Given the description of an element on the screen output the (x, y) to click on. 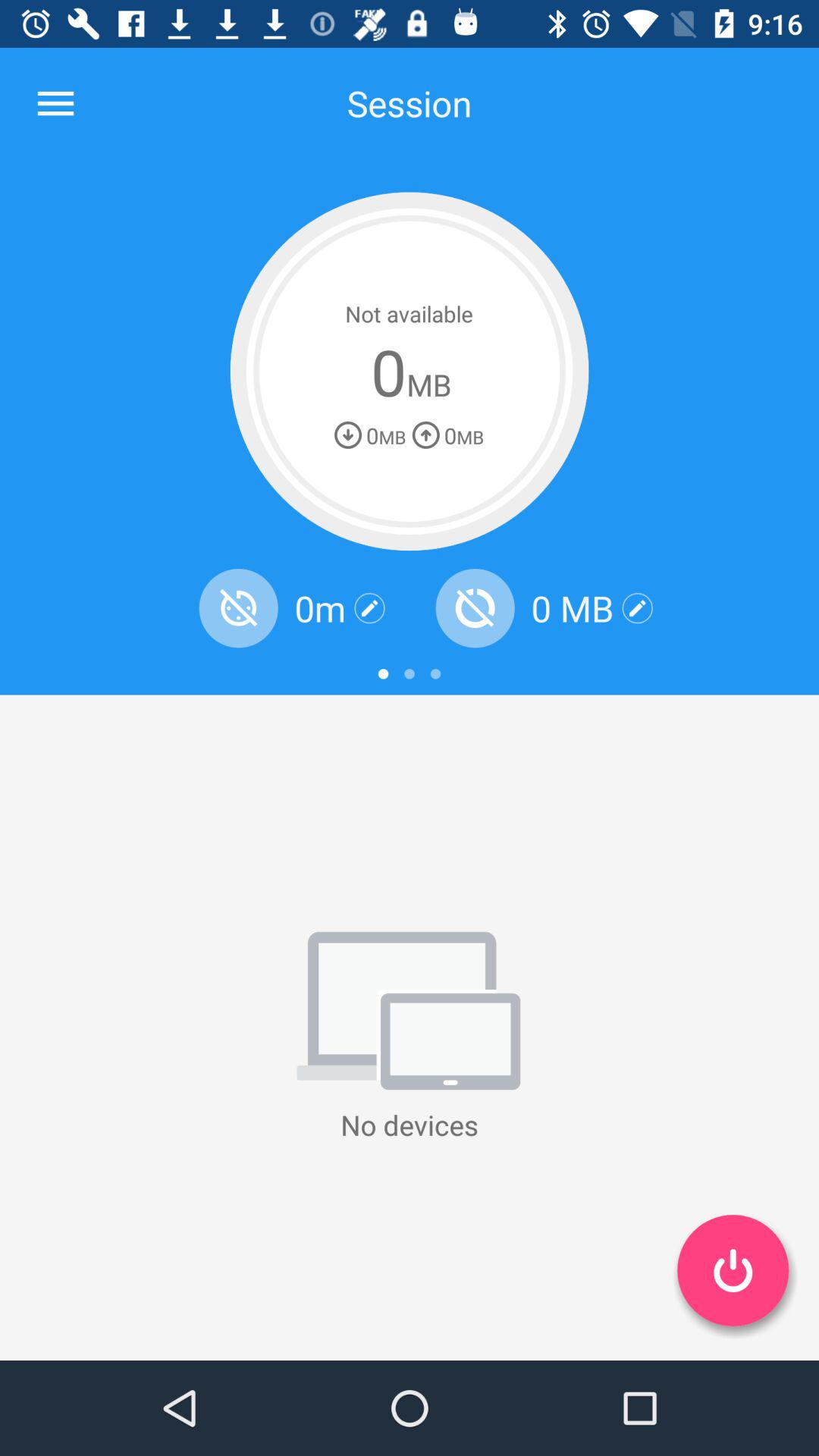
toggle off/on (733, 1270)
